Given the description of an element on the screen output the (x, y) to click on. 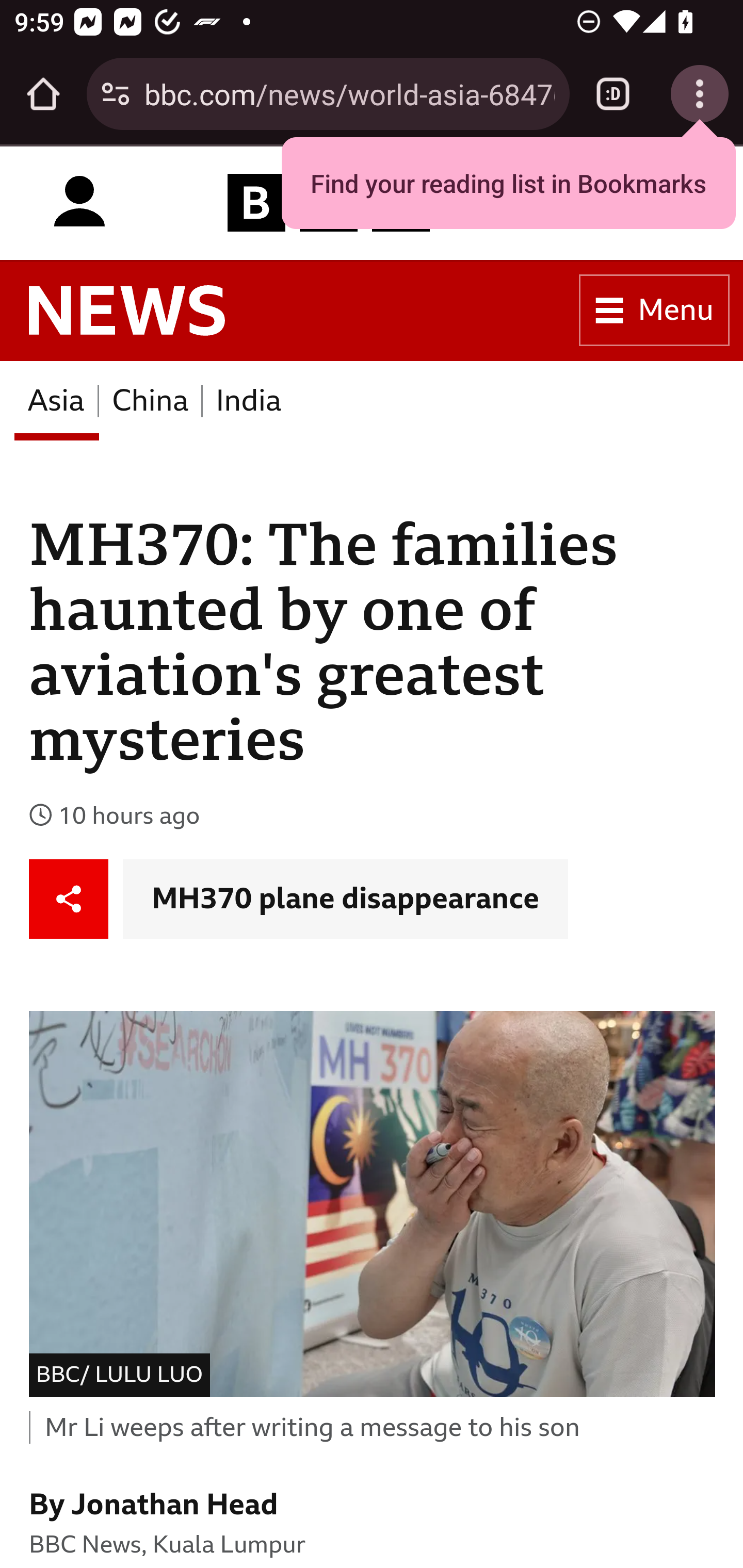
Open the home page (43, 93)
Connection is secure (115, 93)
Switch or close tabs (612, 93)
Customize and control Google Chrome (699, 93)
bbc.com/news/world-asia-68476289 (349, 92)
Sign in (79, 202)
BBC News (126, 311)
Menu (654, 310)
Asia (56, 400)
China (150, 400)
India (249, 400)
Share (68, 899)
MH370 plane disappearance (345, 899)
